Given the description of an element on the screen output the (x, y) to click on. 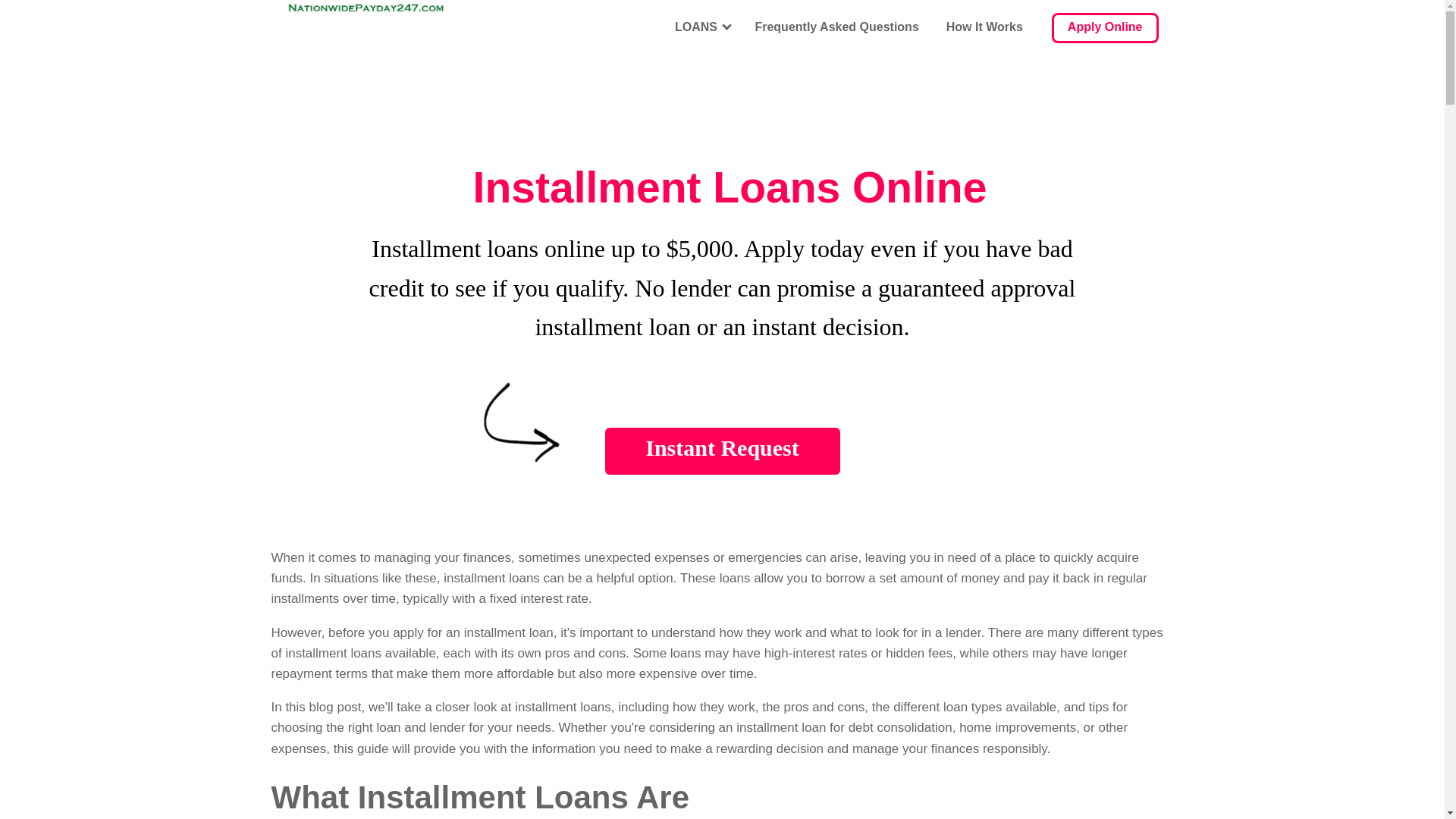
How It Works (984, 27)
Frequently Asked Questions (836, 27)
Apply Online (1105, 27)
LOANS (701, 27)
